Given the description of an element on the screen output the (x, y) to click on. 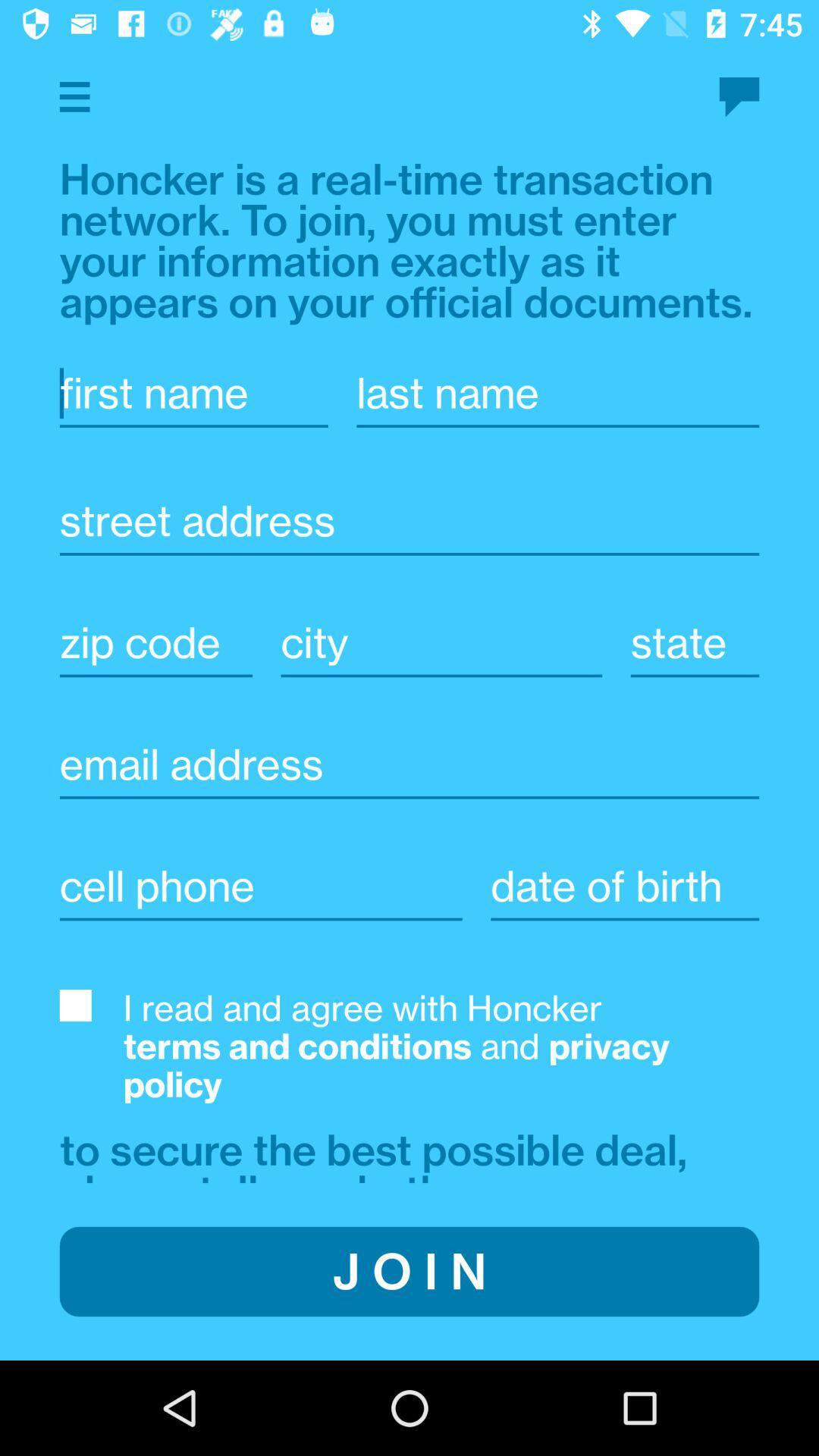
enter first name (193, 392)
